Given the description of an element on the screen output the (x, y) to click on. 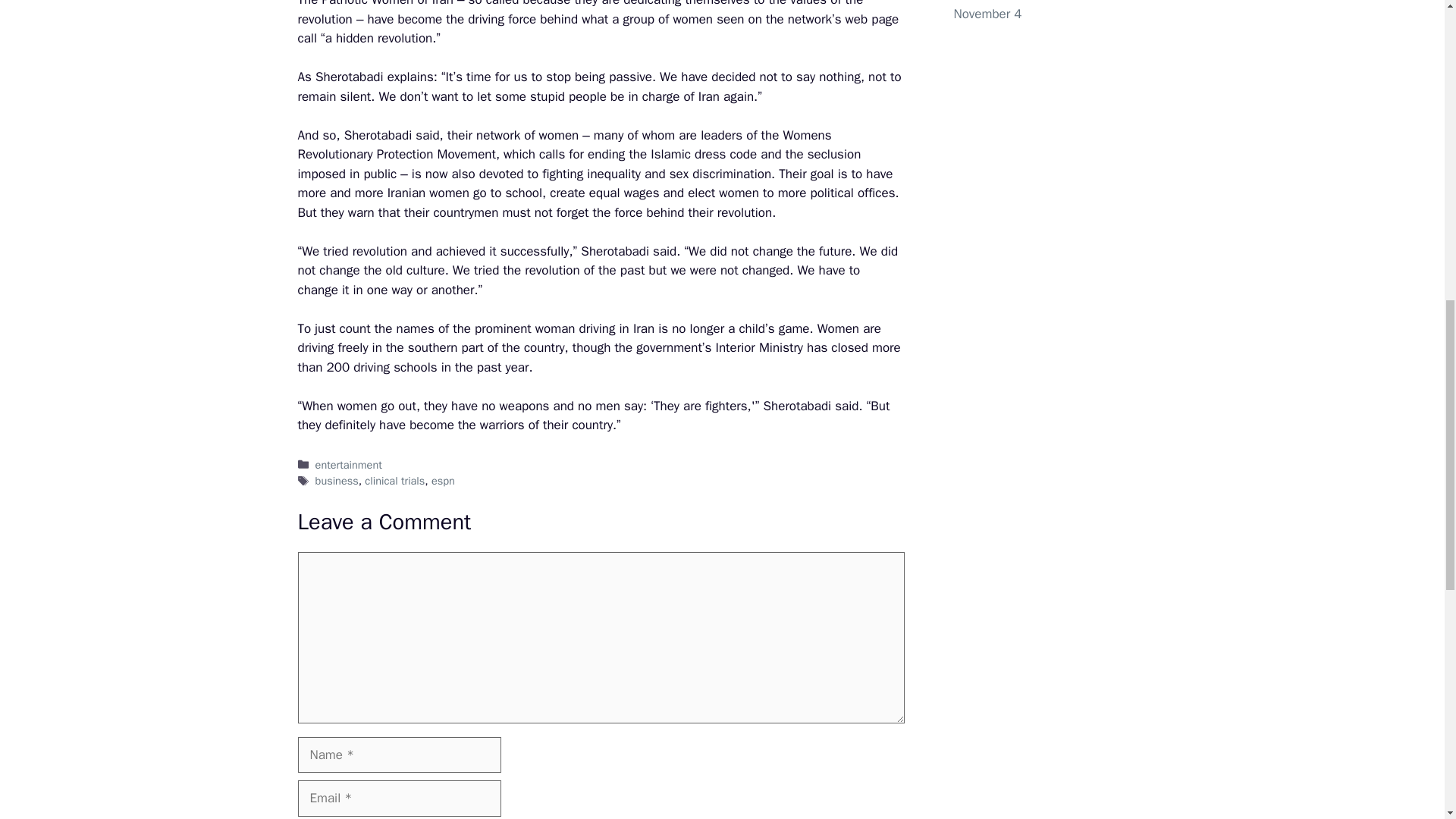
business (336, 480)
entertainment (348, 464)
clinical trials (395, 480)
espn (442, 480)
